Given the description of an element on the screen output the (x, y) to click on. 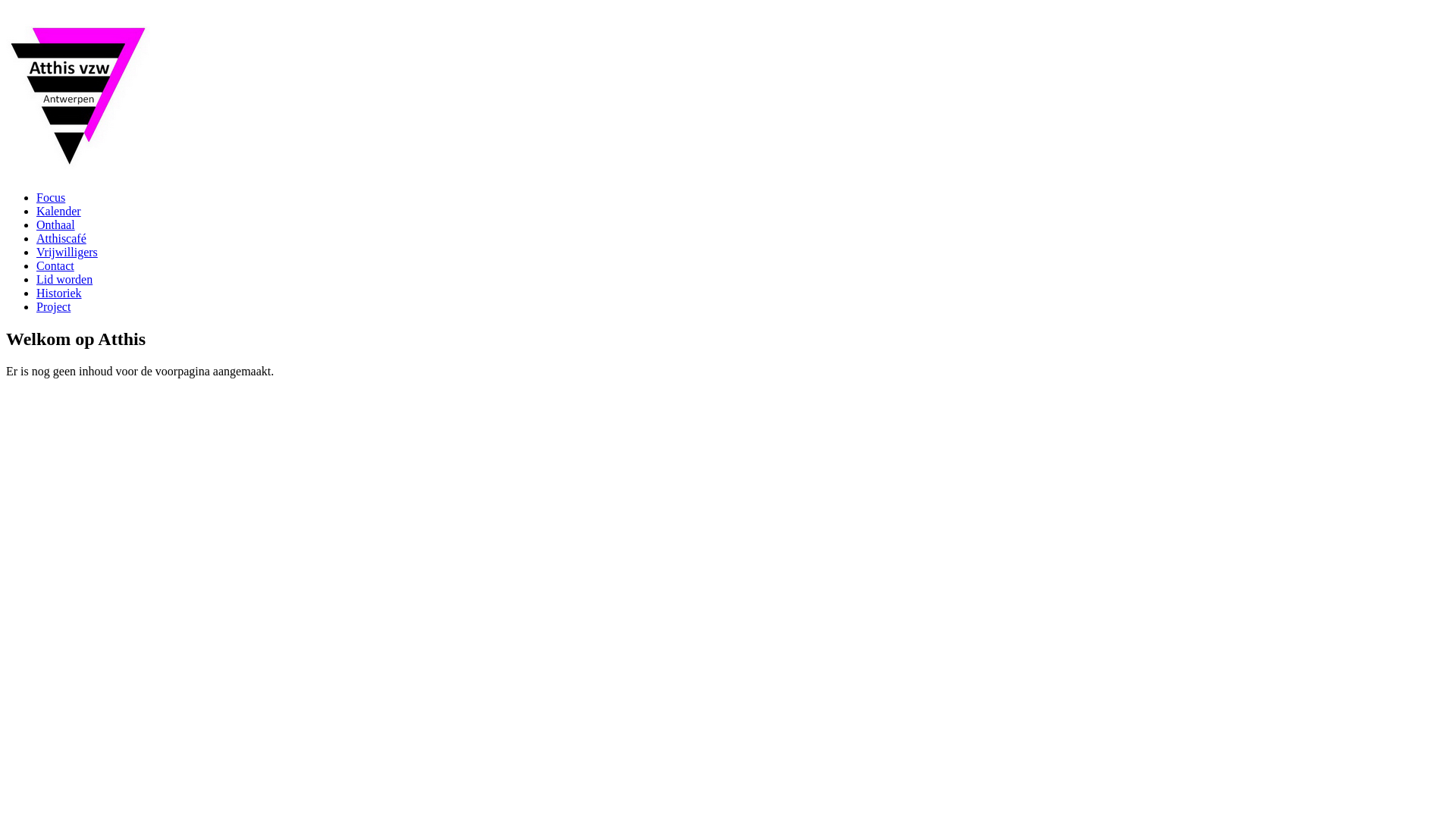
Historiek Element type: text (58, 292)
Contact Element type: text (55, 265)
Kalender Element type: text (58, 210)
Focus Element type: text (50, 197)
Vrijwilligers Element type: text (66, 251)
Onthaal Element type: text (55, 224)
Home Element type: hover (78, 168)
Project Element type: text (53, 306)
Lid worden Element type: text (64, 279)
